Given the description of an element on the screen output the (x, y) to click on. 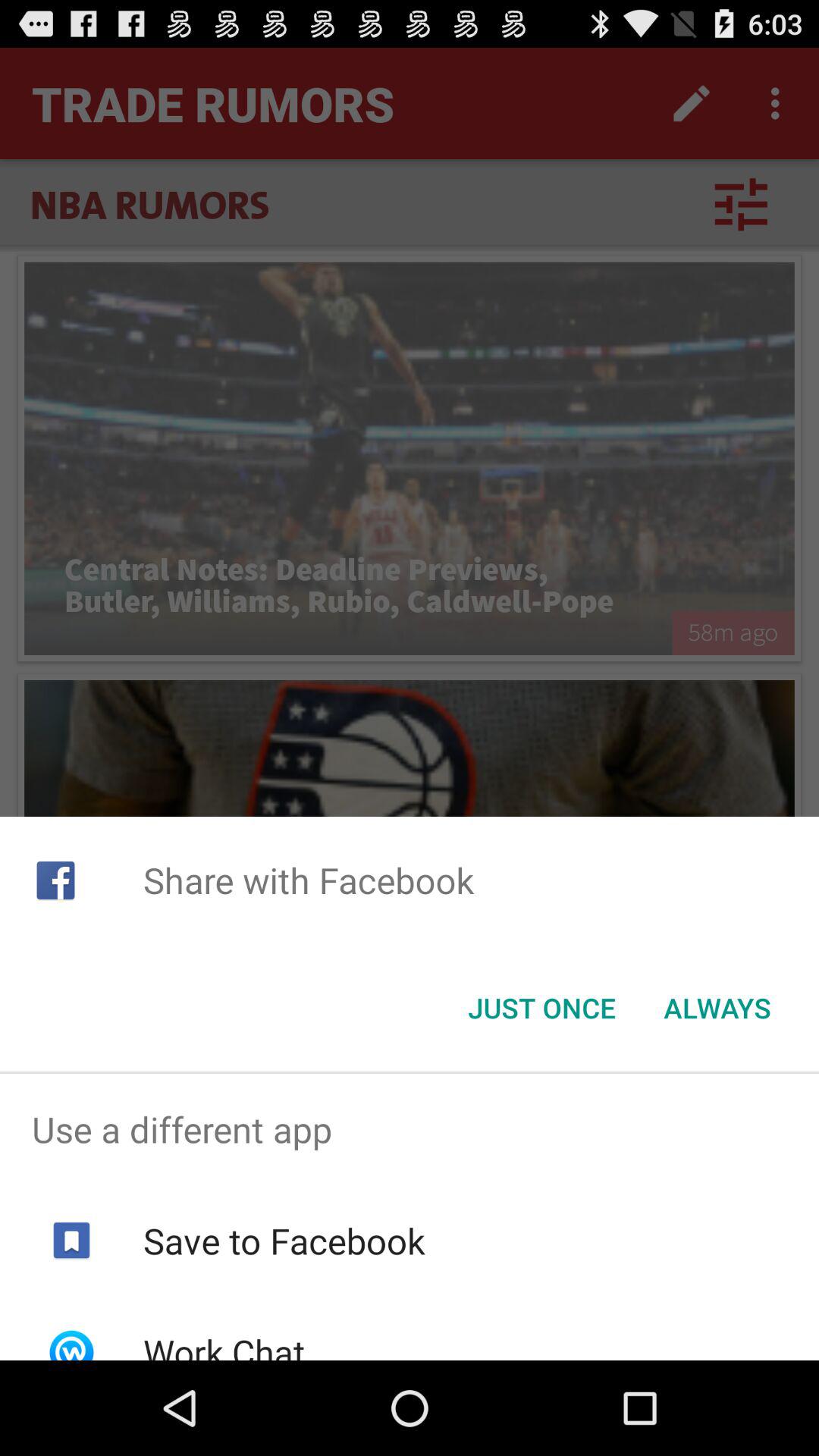
press item below the save to facebook icon (223, 1344)
